Given the description of an element on the screen output the (x, y) to click on. 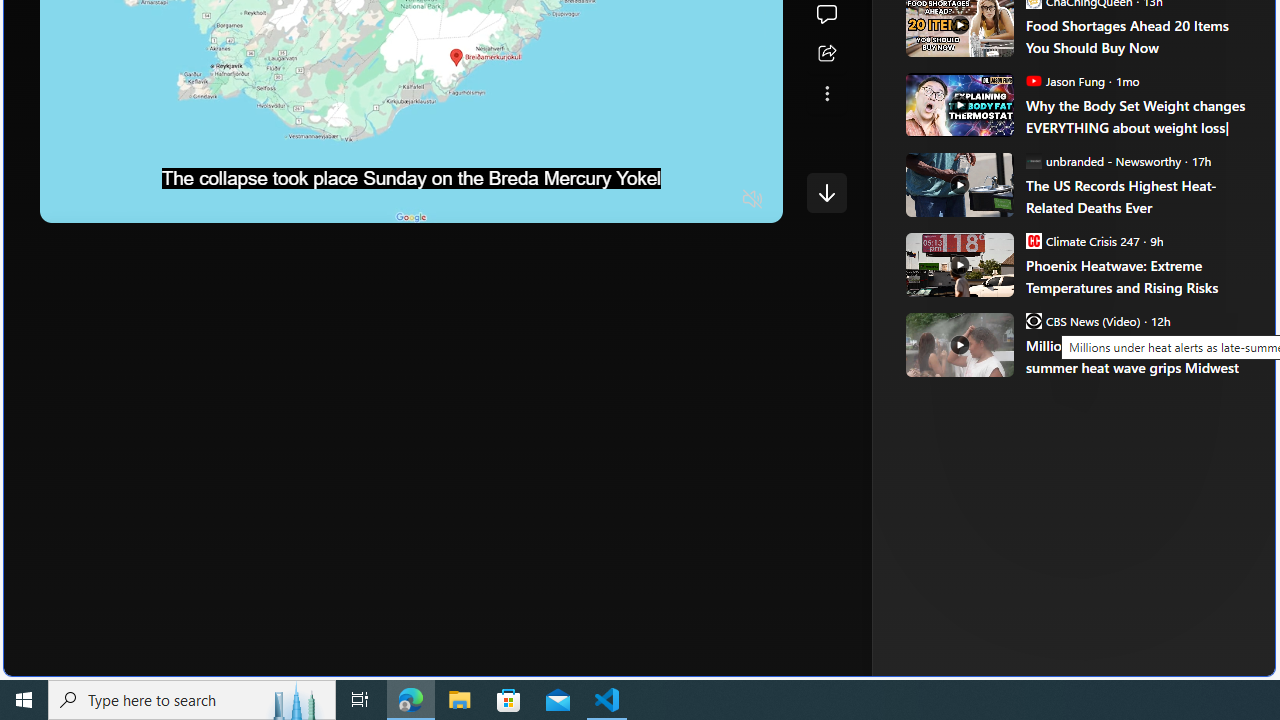
Food Shortages Ahead 20 Items You Should Buy Now (1136, 36)
Jason Fung Jason Fung (1064, 80)
ABC News (974, 12)
Class: control (826, 192)
unbranded - Newsworthy unbranded - Newsworthy (1103, 160)
unbranded - Newsworthy (1033, 160)
Climate Crisis 247 Climate Crisis 247 (1082, 240)
The US Records Highest Heat-Related Deaths Ever (958, 183)
